Given the description of an element on the screen output the (x, y) to click on. 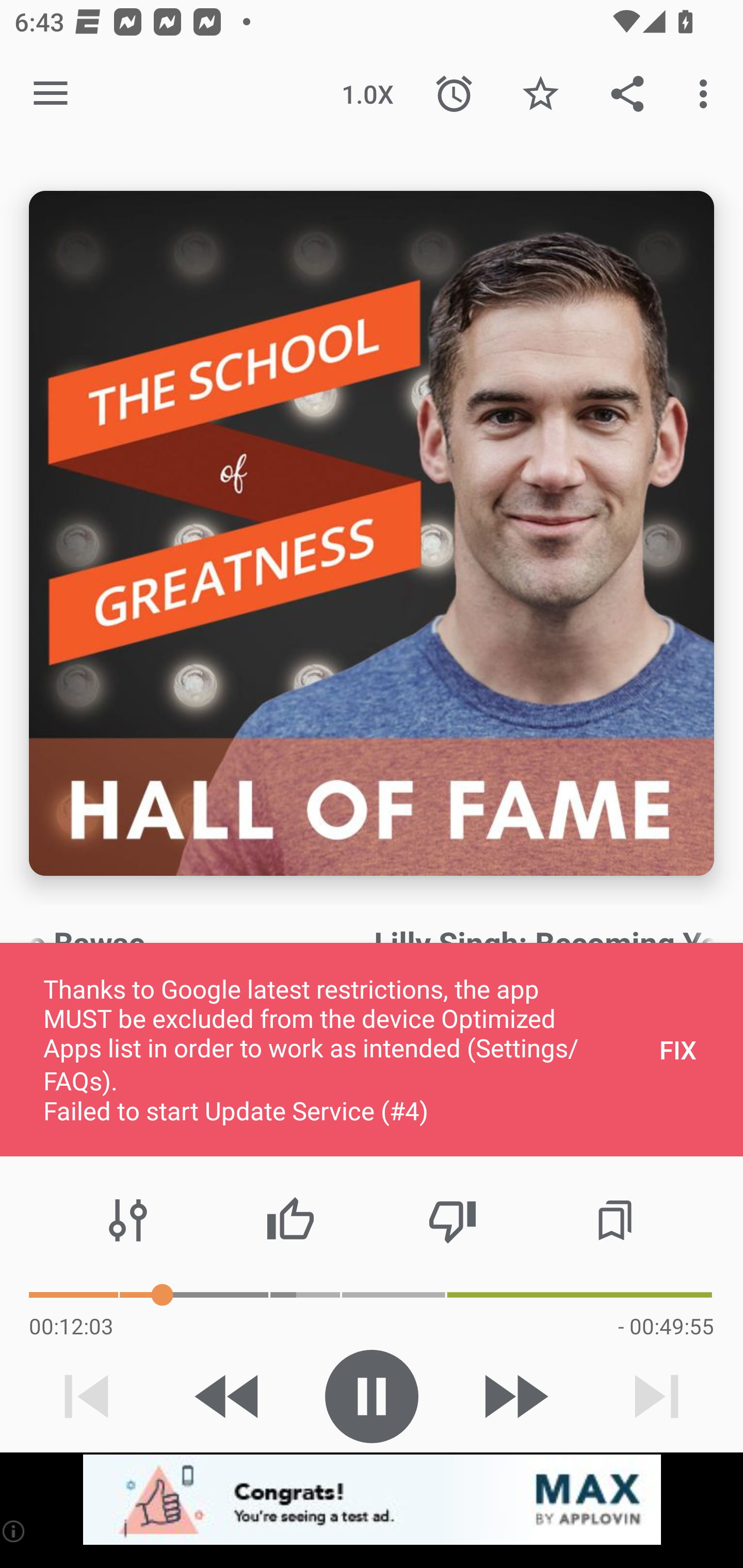
Open navigation sidebar (50, 93)
1.0X (366, 93)
Sleep Timer (453, 93)
Favorite (540, 93)
Share (626, 93)
More options (706, 93)
Episode description (371, 533)
FIX (677, 1049)
Audio effects (127, 1220)
Thumbs up (290, 1220)
Thumbs down (452, 1220)
Chapters / Bookmarks (614, 1220)
- 00:49:55 (666, 1325)
Previous track (86, 1395)
Skip 15s backward (228, 1395)
Play / Pause (371, 1395)
Skip 30s forward (513, 1395)
Next track (656, 1395)
app-monetization (371, 1500)
(i) (14, 1531)
